Given the description of an element on the screen output the (x, y) to click on. 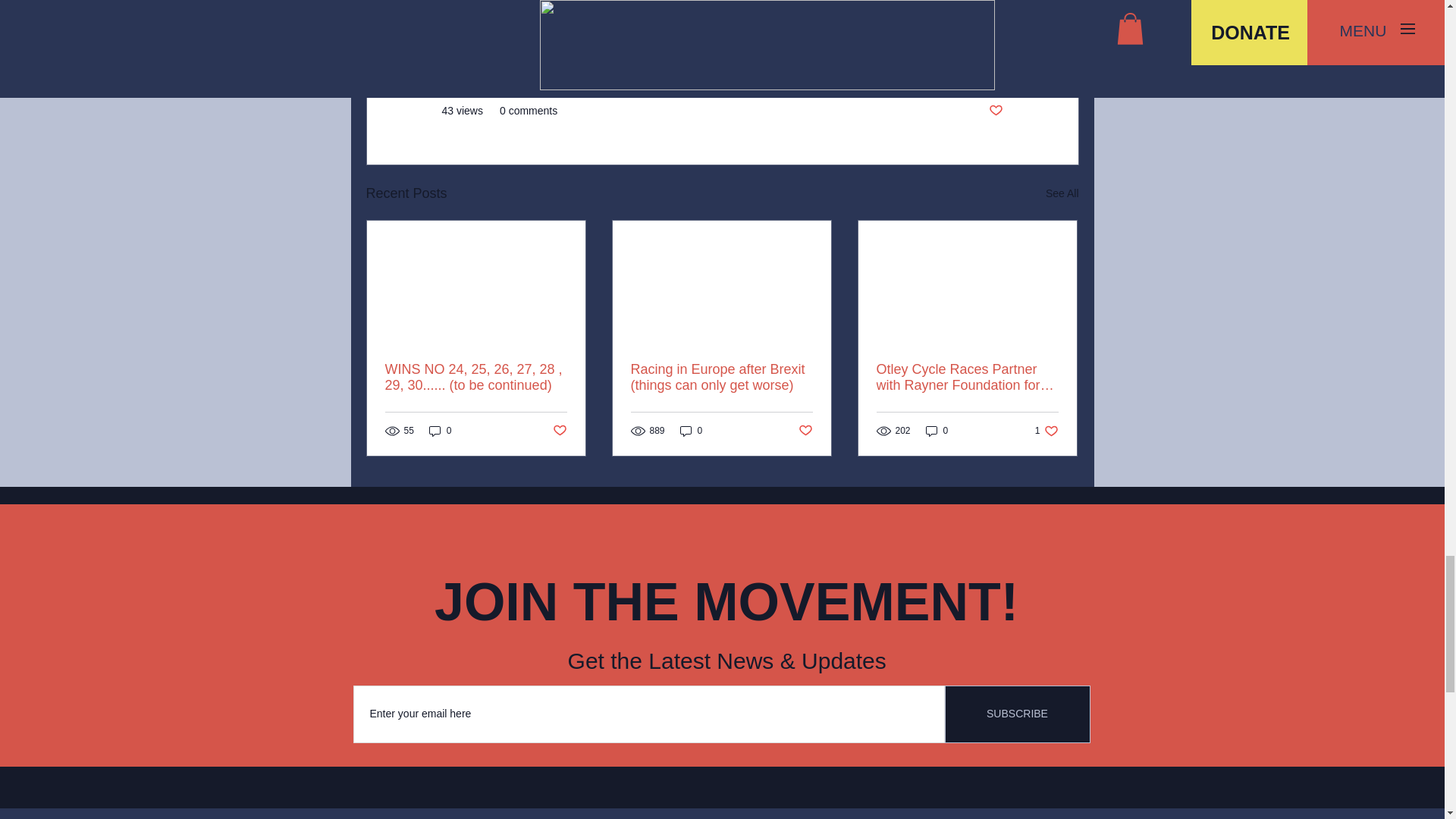
SUBSCRIBE (1046, 430)
0 (1017, 713)
See All (440, 430)
Post not marked as liked (1061, 193)
0 (804, 430)
Post not marked as liked (937, 430)
0 (558, 430)
Post not marked as liked (691, 430)
